Given the description of an element on the screen output the (x, y) to click on. 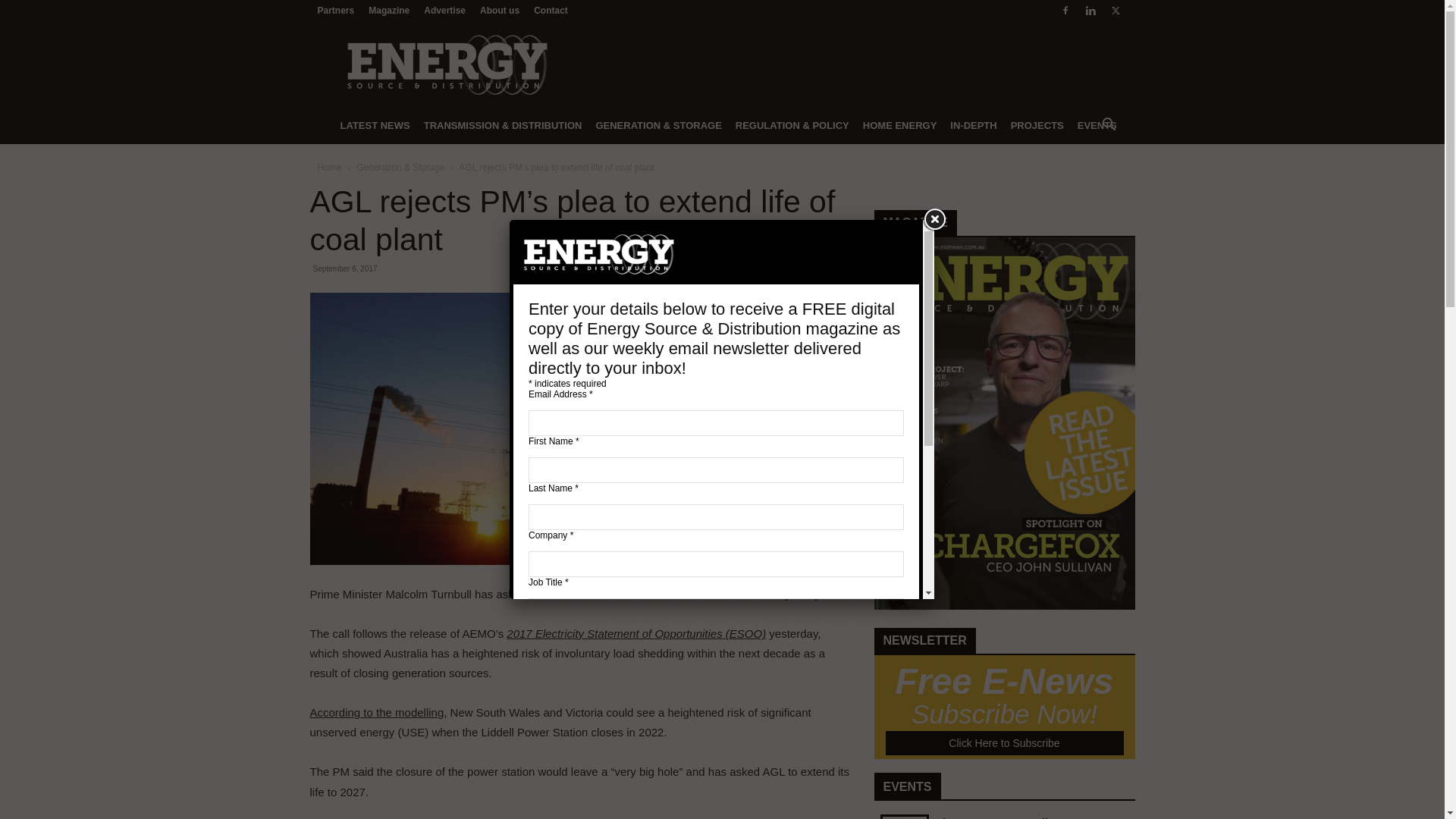
Free E-News
Subscribe Now! Element type: text (1004, 698)
Contact Element type: text (550, 10)
Partners Element type: text (335, 10)
Twitter Element type: hover (1115, 10)
Close Element type: hover (933, 219)
According to the modelling Element type: text (376, 712)
TRANSMISSION & DISTRIBUTION Element type: text (503, 125)
REGULATION & POLICY Element type: text (792, 125)
Linkedin Element type: hover (1090, 10)
About us Element type: text (499, 10)
Search Element type: text (1084, 186)
Magazine Element type: hover (1003, 605)
EVENTS Element type: text (1096, 125)
Facebook Element type: hover (1065, 10)
GENERATION & STORAGE Element type: text (658, 125)
Home Element type: text (328, 167)
Energy Source & Distribution Element type: hover (445, 64)
2017 Electricity Statement of Opportunities (ESOO) Element type: text (635, 633)
LATEST NEWS Element type: text (375, 125)
Click Here to Subscribe Element type: text (1004, 743)
HOME ENERGY Element type: text (900, 125)
PROJECTS Element type: text (1037, 125)
IN-DEPTH Element type: text (973, 125)
Generation & Storage Element type: text (400, 167)
Advertise Element type: text (444, 10)
powerstation Element type: hover (573, 428)
Magazine Element type: text (388, 10)
